Given the description of an element on the screen output the (x, y) to click on. 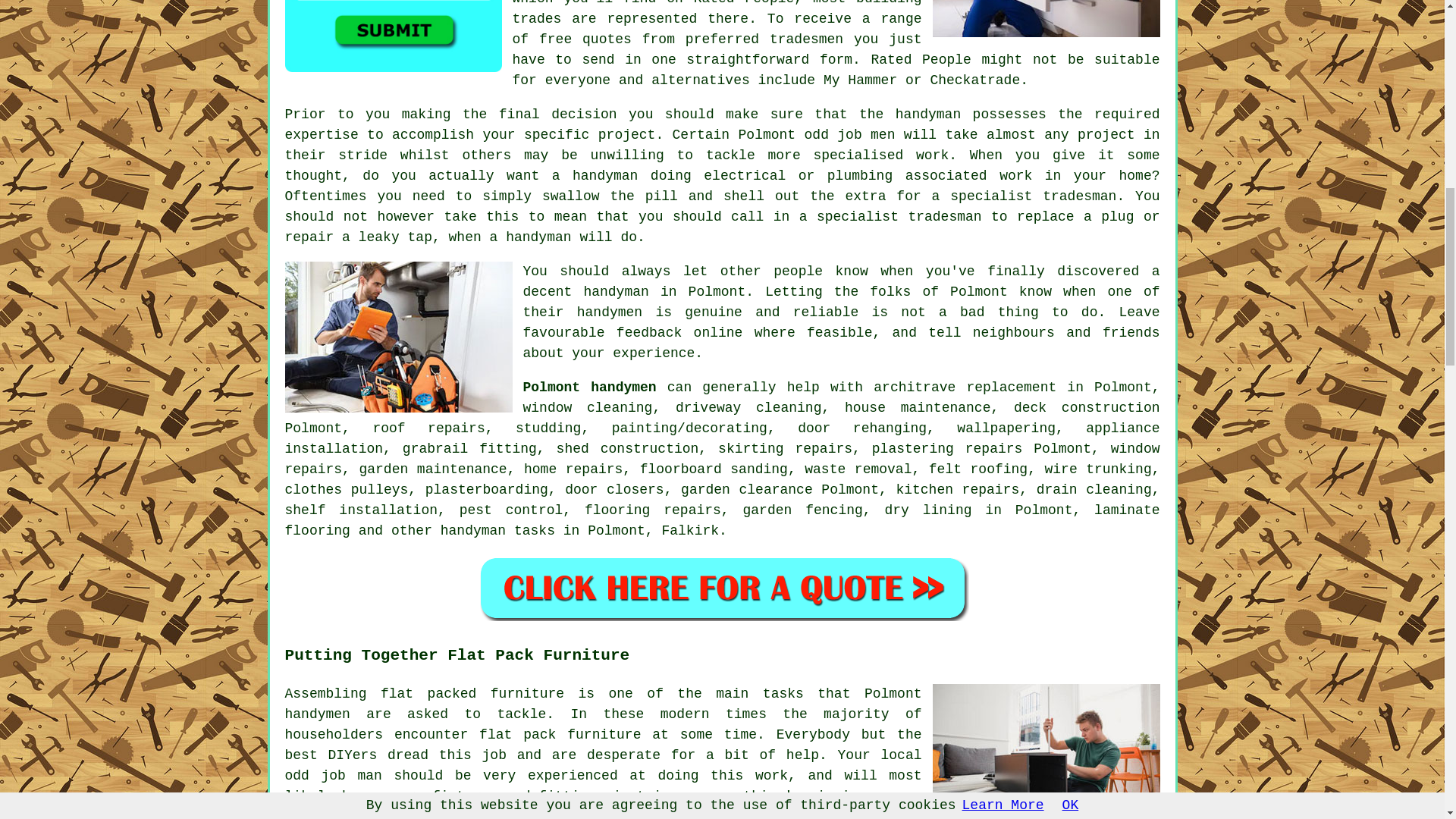
Get Handyman Quotes Polmont (393, 36)
Flat Pack Assembly Polmont (1046, 751)
Handyman Polmont Falkirk (1046, 18)
